Given the description of an element on the screen output the (x, y) to click on. 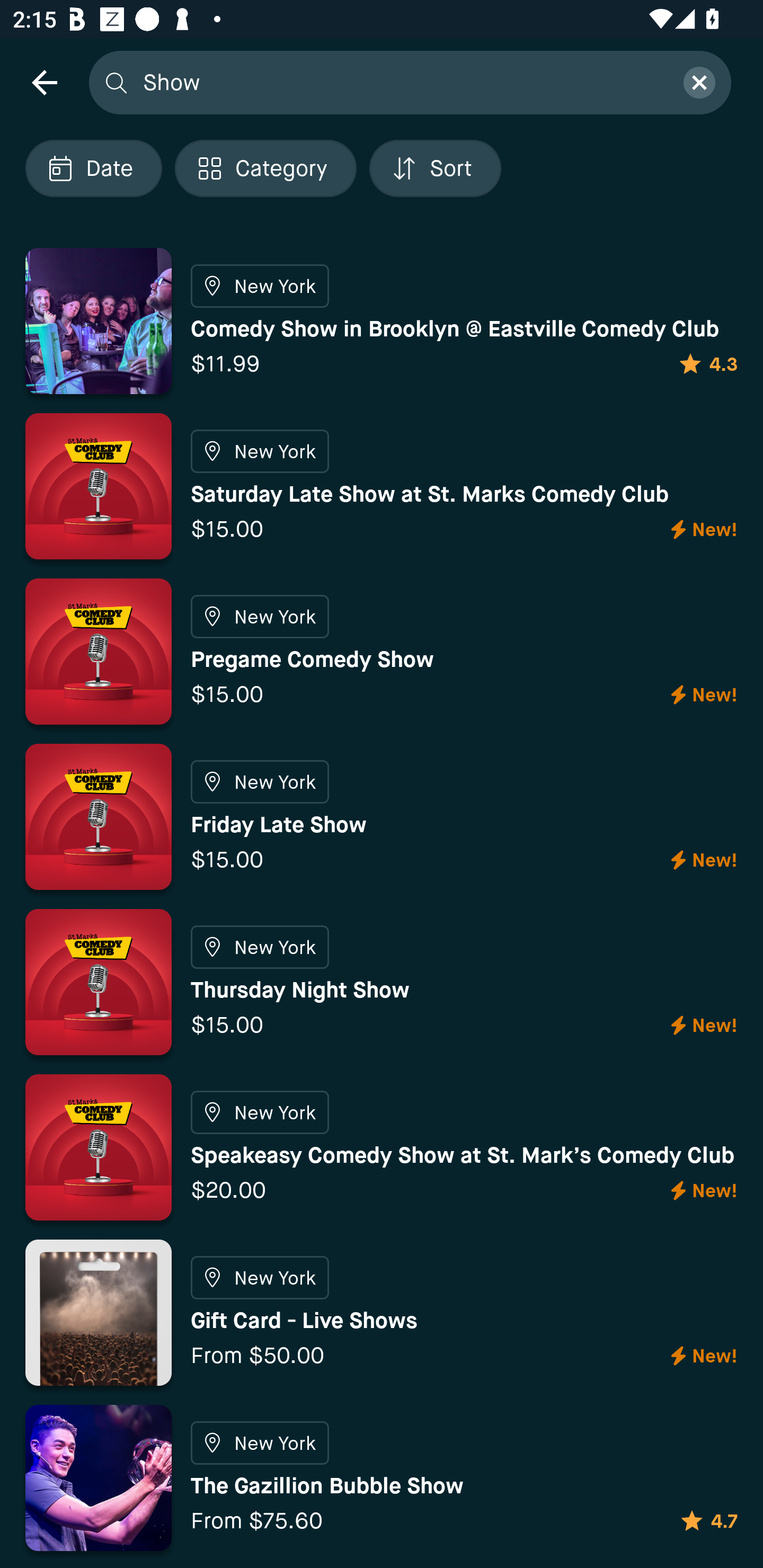
navigation icon (44, 81)
Show (402, 81)
Localized description Date (93, 168)
Localized description Category (265, 168)
Localized description Sort (435, 168)
